Given the description of an element on the screen output the (x, y) to click on. 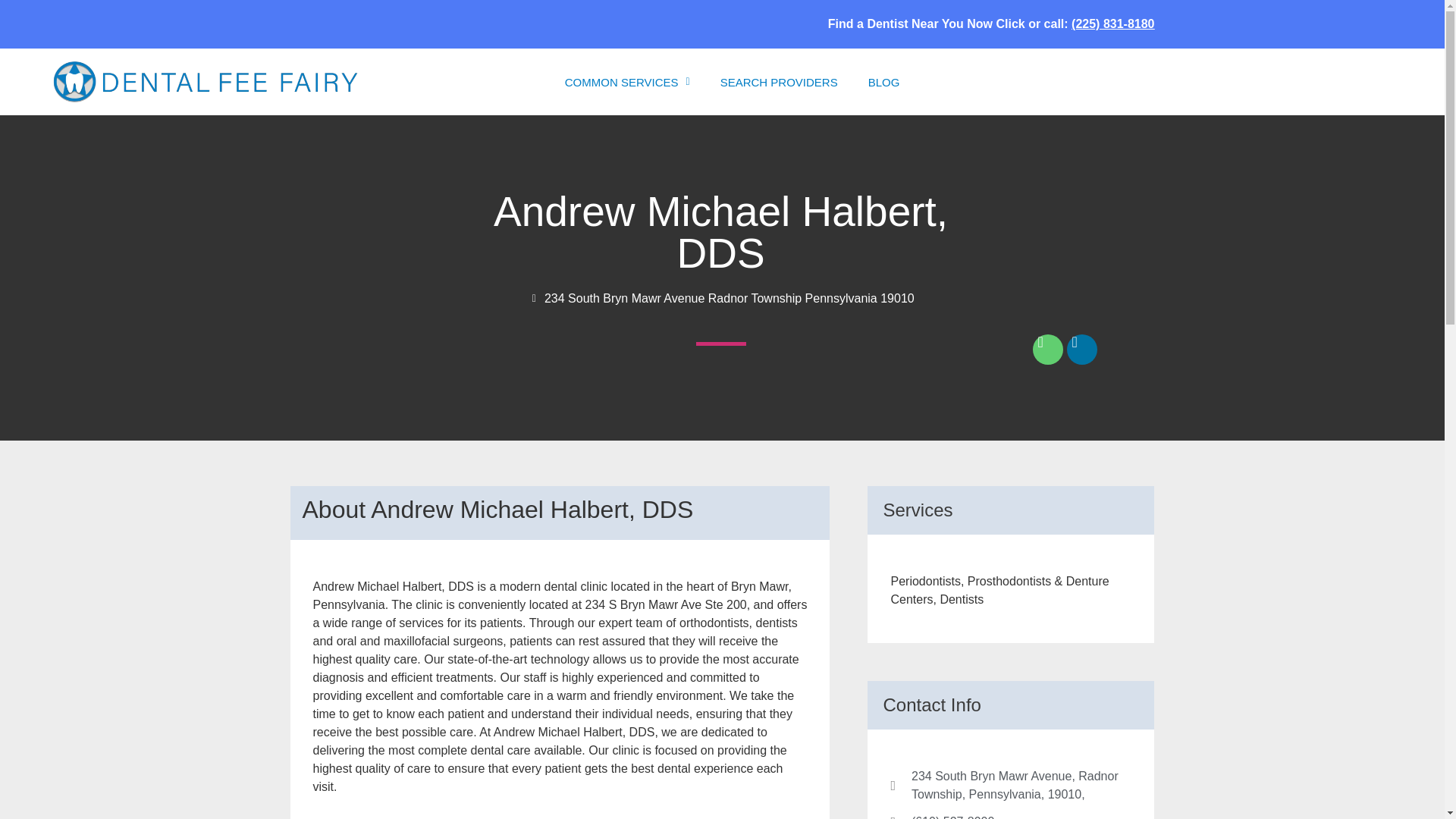
SEARCH PROVIDERS (778, 82)
BLOG (884, 82)
COMMON SERVICES (627, 82)
